Given the description of an element on the screen output the (x, y) to click on. 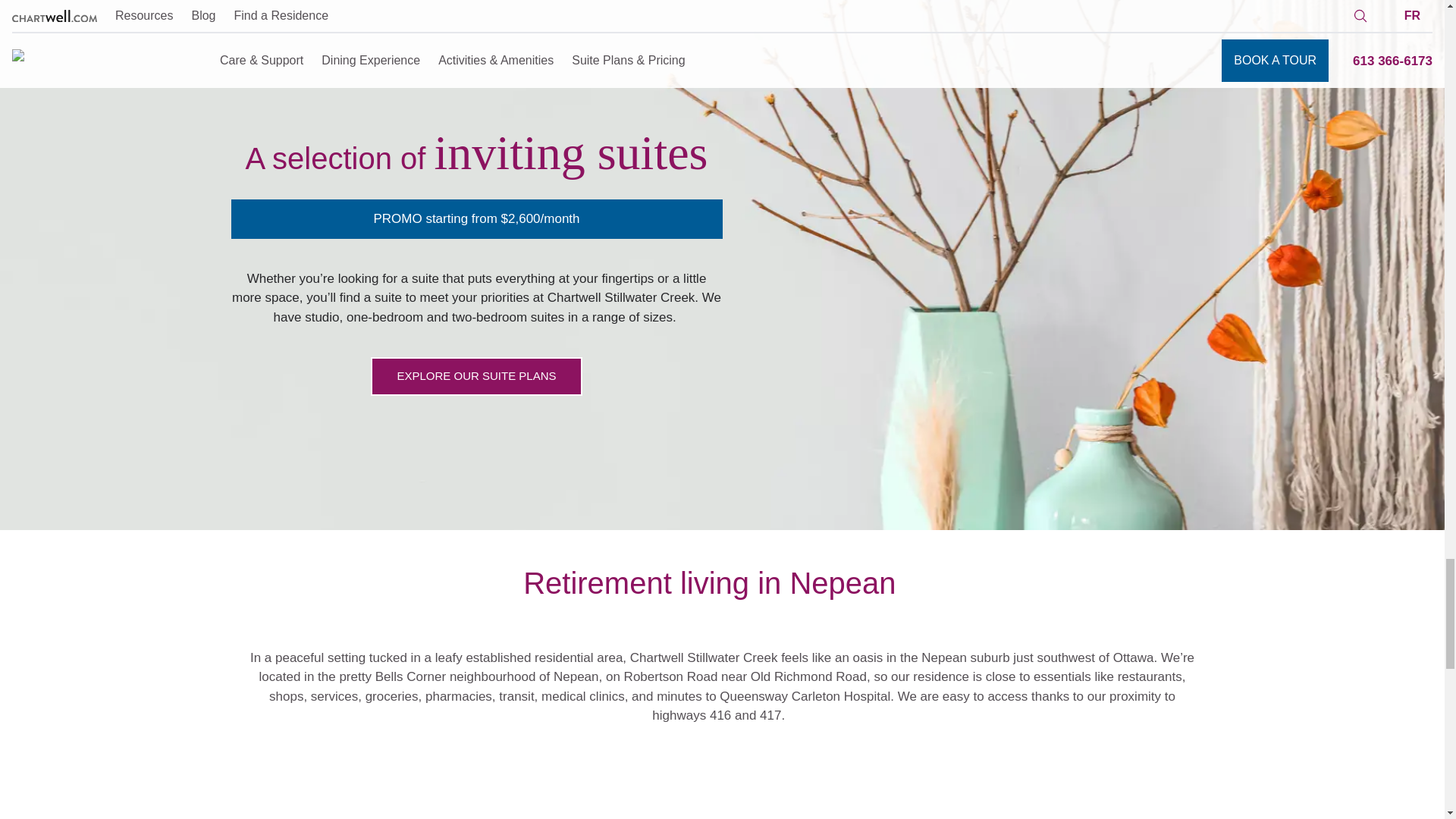
EXPLORE OUR SUITE PLANS (475, 376)
